Given the description of an element on the screen output the (x, y) to click on. 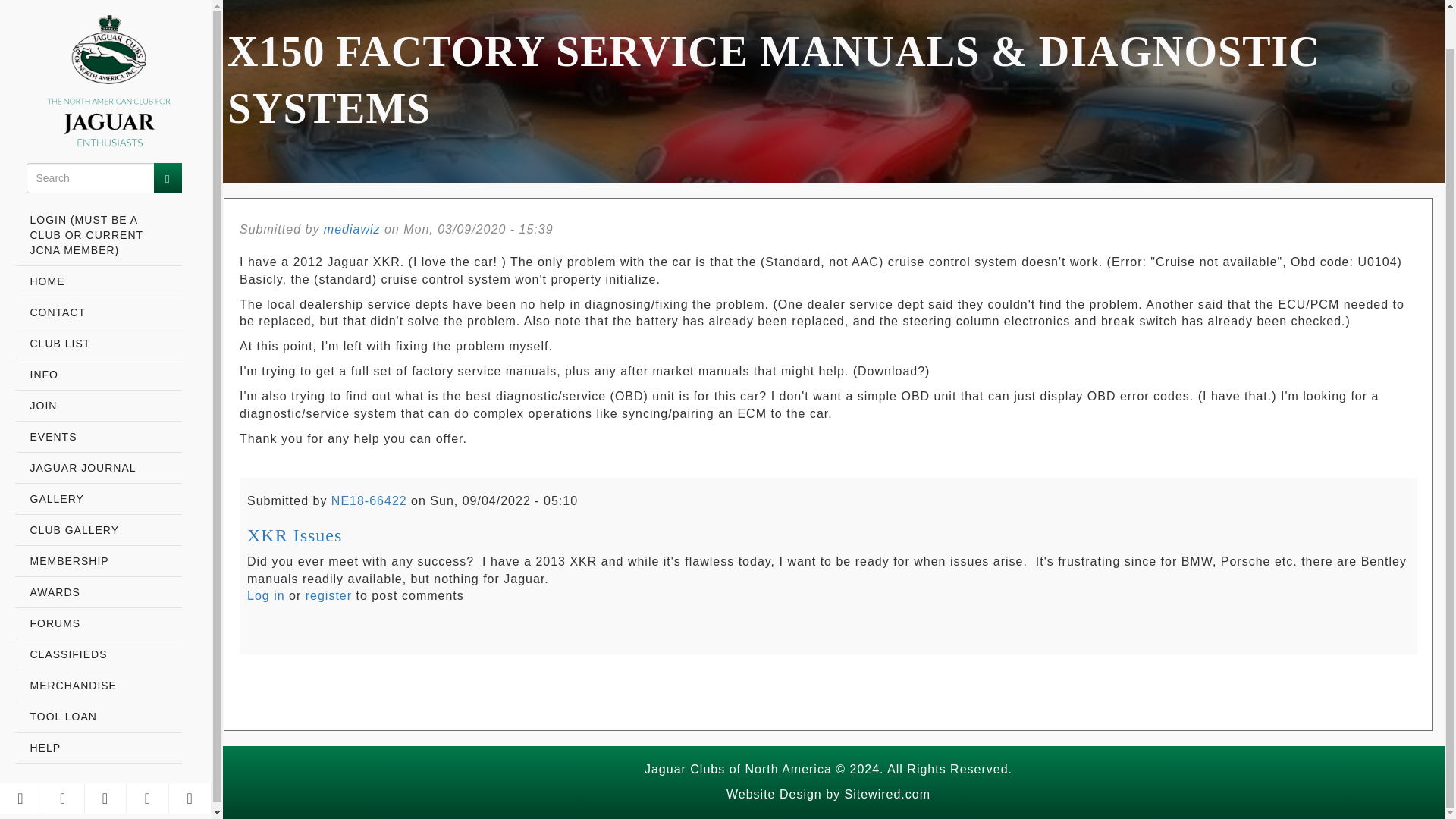
EVENTS (98, 395)
HELP (98, 706)
CLUB LIST (98, 302)
FORUMS (98, 582)
CONTACT (98, 271)
GALLERY (98, 458)
CLUB GALLERY (98, 489)
HOME (98, 240)
View user profile. (369, 500)
JOIN (98, 364)
Home (98, 42)
CLASSIFIEDS (98, 613)
Search (167, 137)
JAGUAR JOURNAL (98, 427)
AWARDS (98, 551)
